Given the description of an element on the screen output the (x, y) to click on. 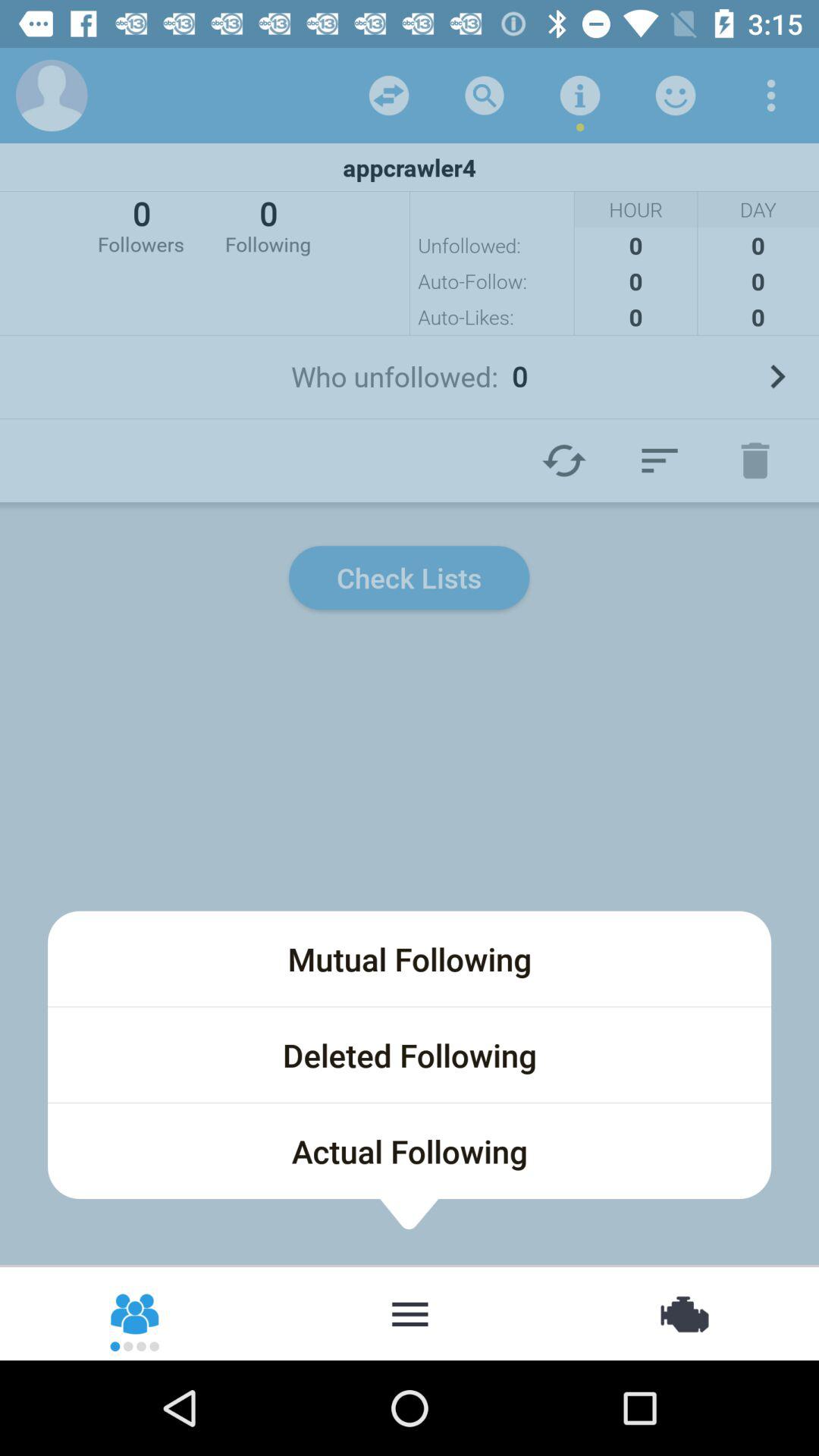
open the item to the left of 0
following item (140, 224)
